Given the description of an element on the screen output the (x, y) to click on. 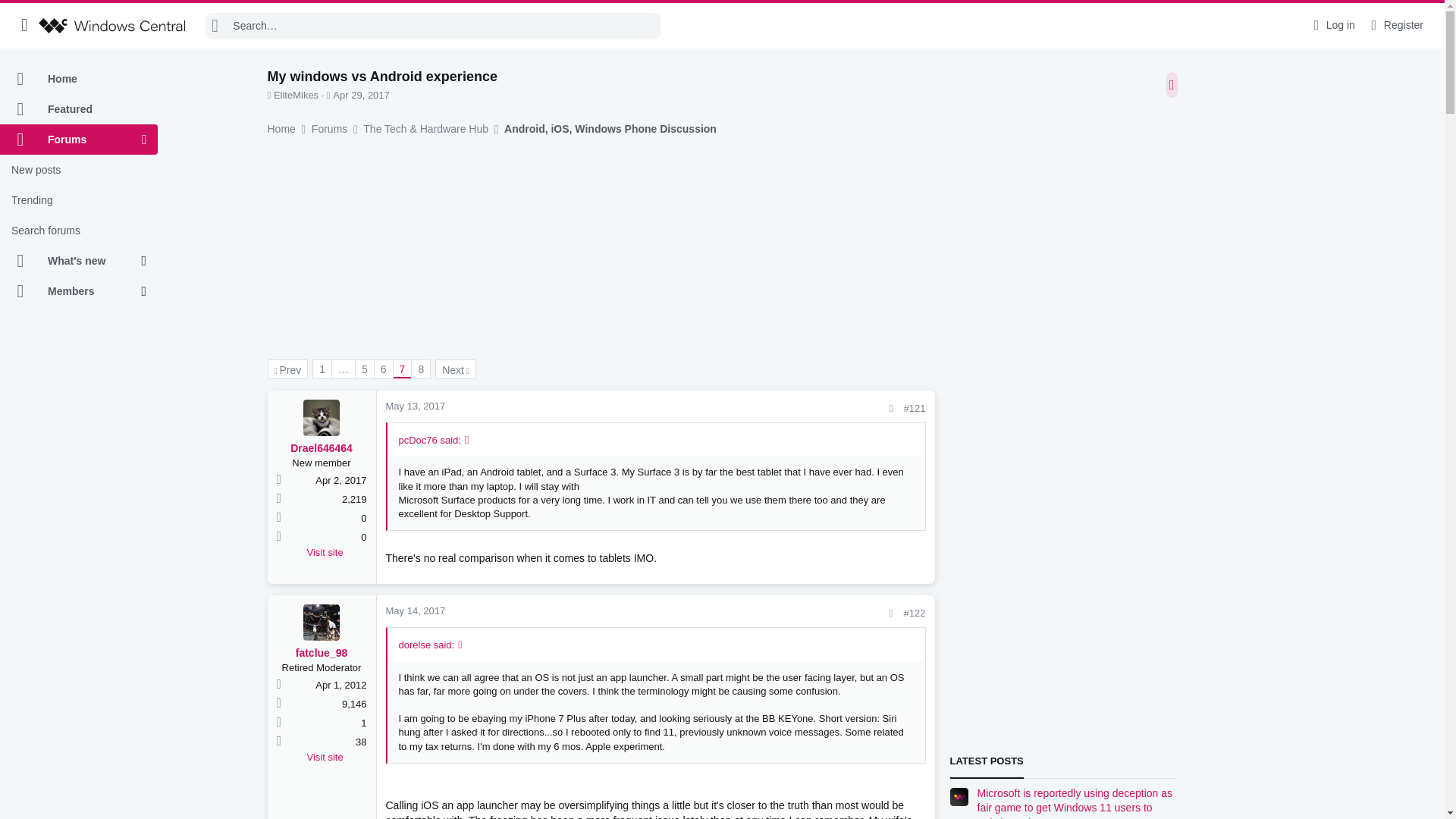
What's new (70, 260)
Trending (78, 200)
Log in (1332, 24)
May 13, 2017 at 5:22 AM (415, 405)
May 14, 2017 at 3:11 AM (415, 610)
Forums (70, 139)
Apr 29, 2017 at 3:11 PM (360, 94)
Home (78, 78)
Featured (78, 109)
New posts (78, 169)
